Given the description of an element on the screen output the (x, y) to click on. 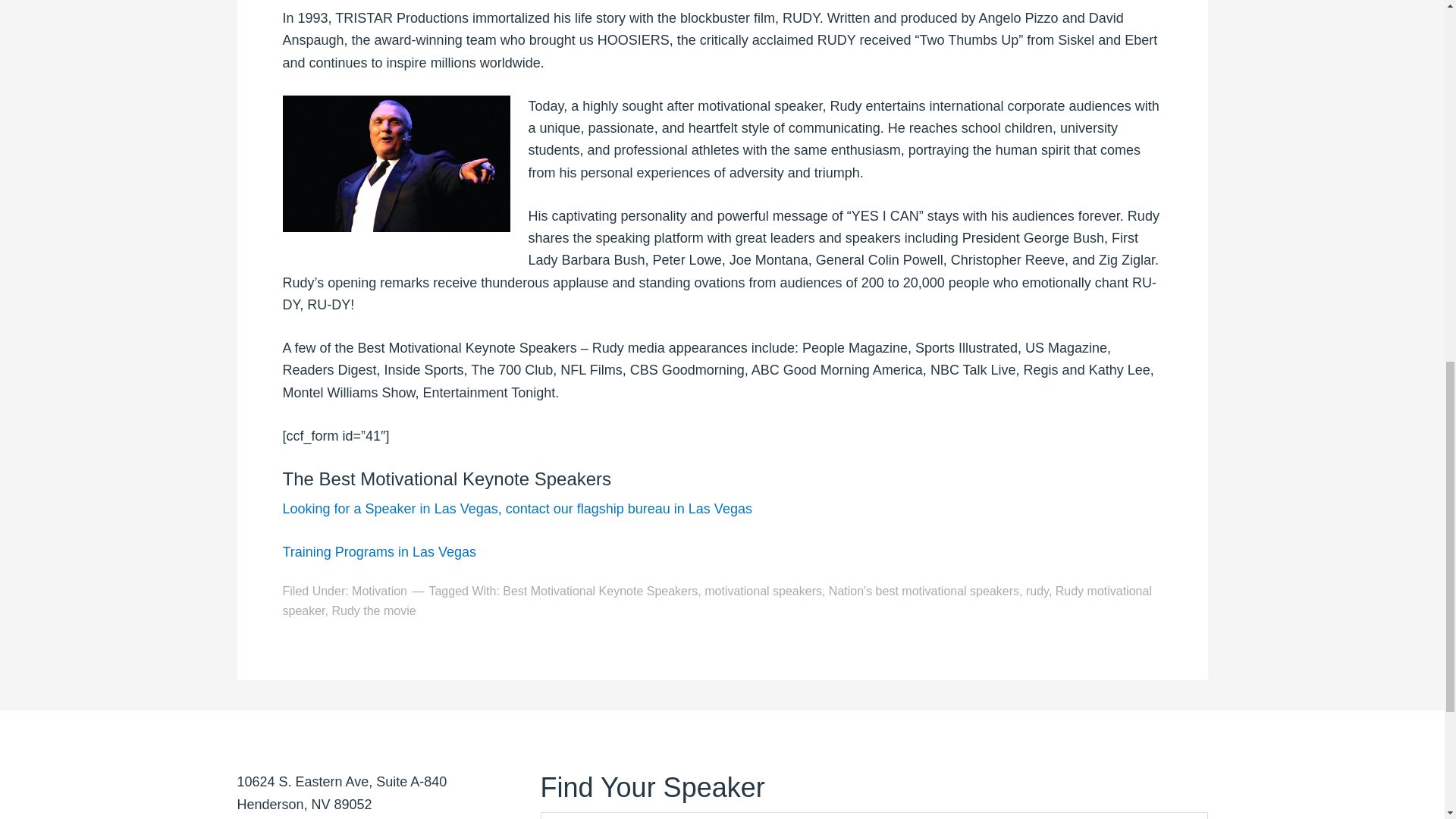
motivational speakers (763, 590)
Nation's best motivational speakers (923, 590)
Training Programs in Las Vegas (379, 551)
rudy (1037, 590)
Rudy motivational speaker (716, 600)
Best Motivational Keynote Speakers (599, 590)
Motivation (379, 590)
